Given the description of an element on the screen output the (x, y) to click on. 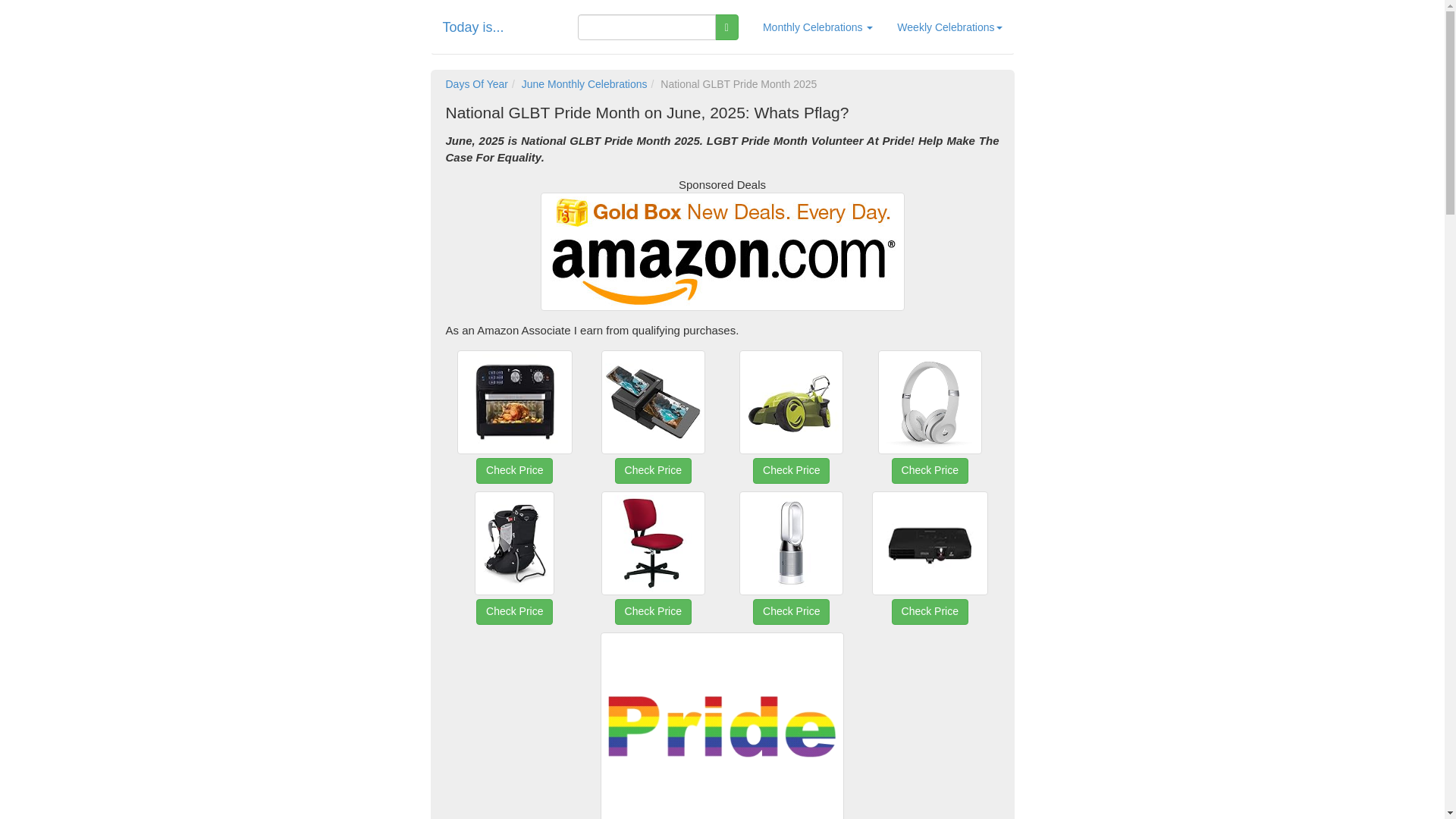
Check Price (514, 435)
Days Of Year (476, 83)
Check Price (791, 435)
Check Price (930, 576)
June Monthly Celebrations (584, 83)
Check Price (791, 576)
Check Price (929, 435)
Check Price (652, 435)
Check Price (514, 576)
Check Price (652, 576)
